Given the description of an element on the screen output the (x, y) to click on. 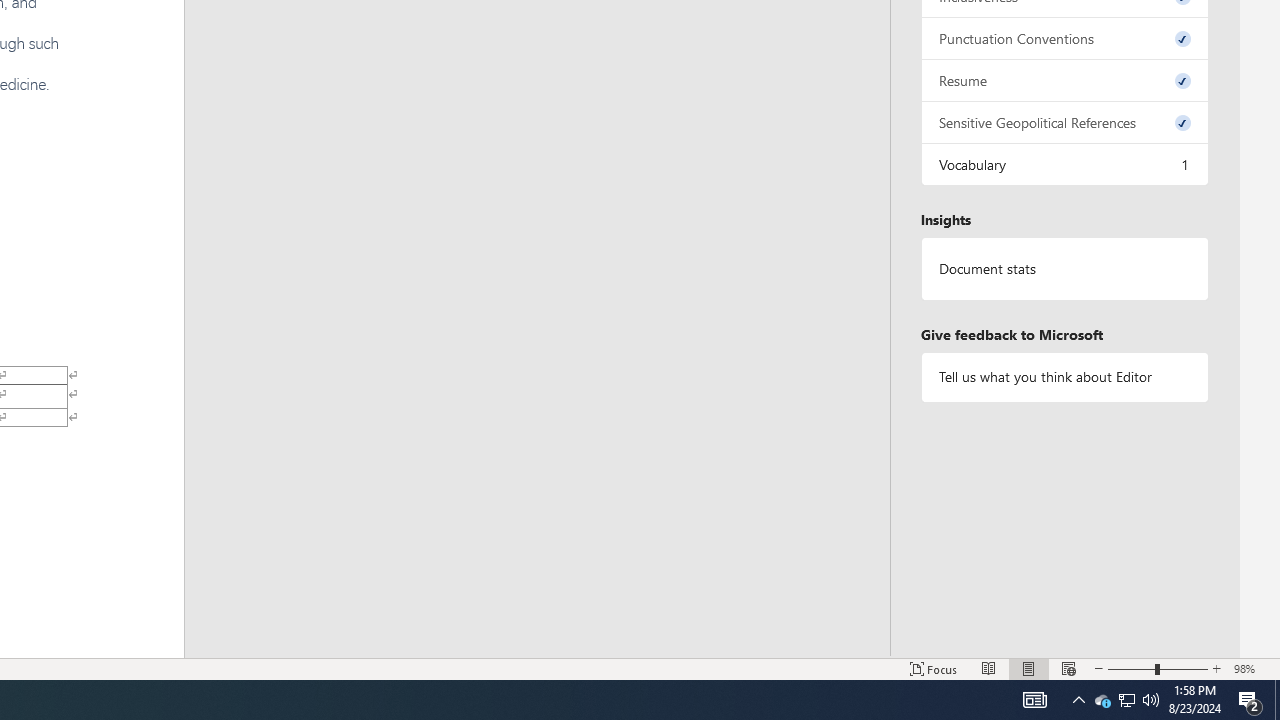
Notification Chevron (1078, 699)
Tell us what you think about Editor (1064, 376)
User Promoted Notification Area (1126, 699)
AutomationID: 4105 (1034, 699)
